Given the description of an element on the screen output the (x, y) to click on. 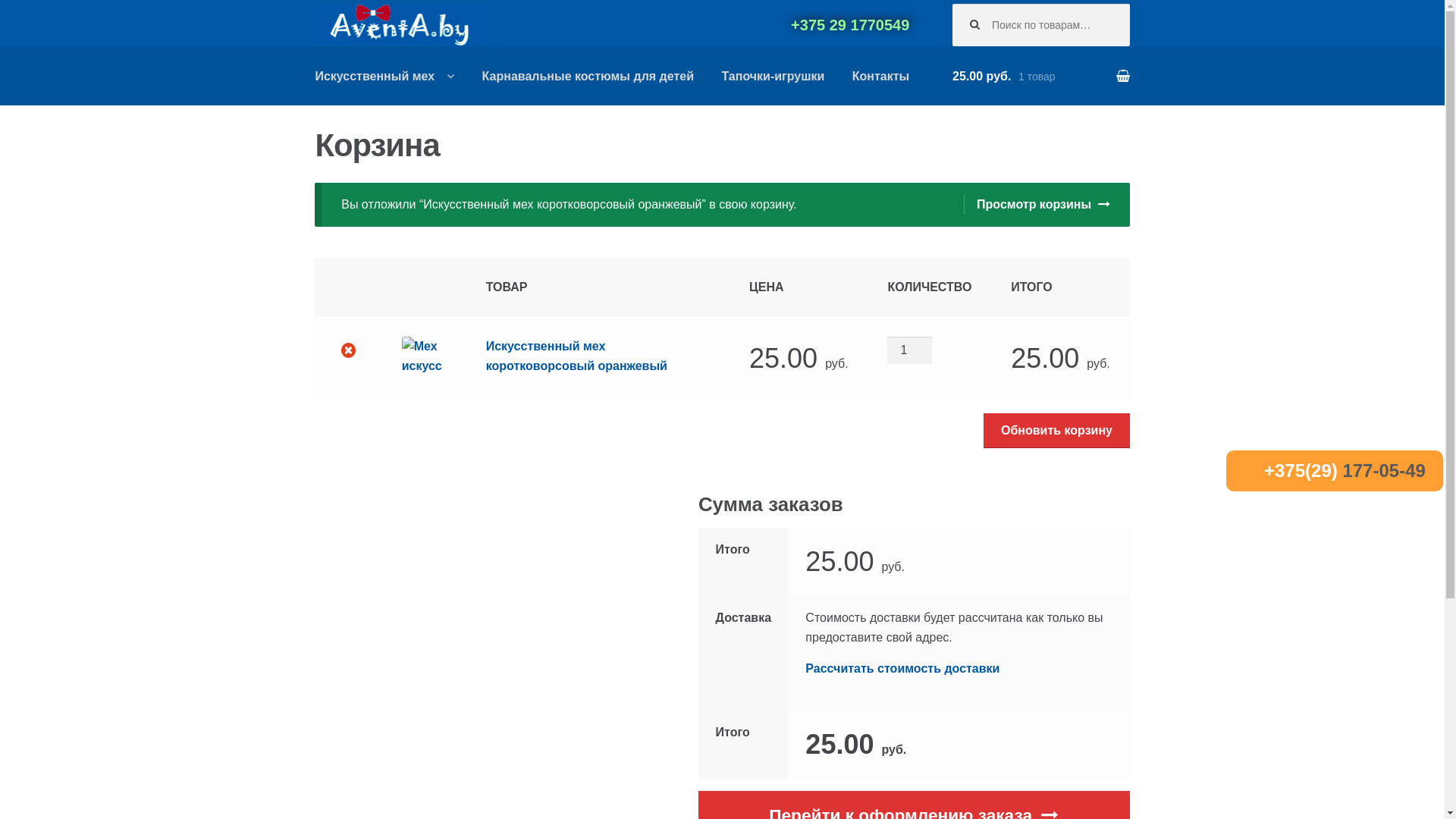
Viber Element type: hover (576, 23)
WhatsApp Element type: hover (546, 23)
+375 29 1770549 Element type: text (849, 24)
Telegram Element type: hover (607, 23)
+375(29) 177-05-49 Element type: text (1344, 470)
